Given the description of an element on the screen output the (x, y) to click on. 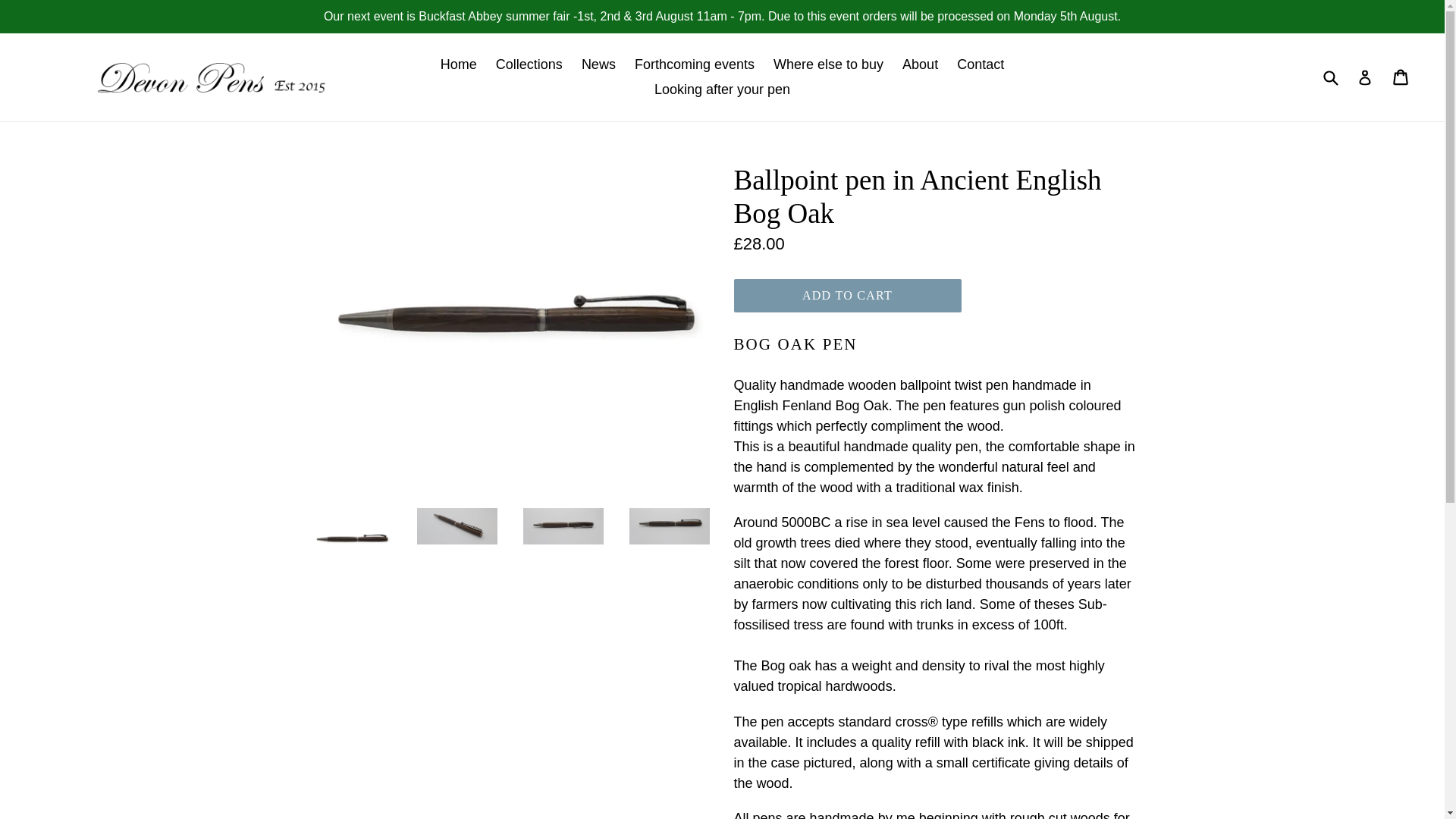
Home (458, 64)
Collections (528, 64)
News (598, 64)
ADD TO CART (846, 295)
Where else to buy (828, 64)
About (919, 64)
Looking after your pen (721, 89)
Forthcoming events (694, 64)
Contact (980, 64)
